Given the description of an element on the screen output the (x, y) to click on. 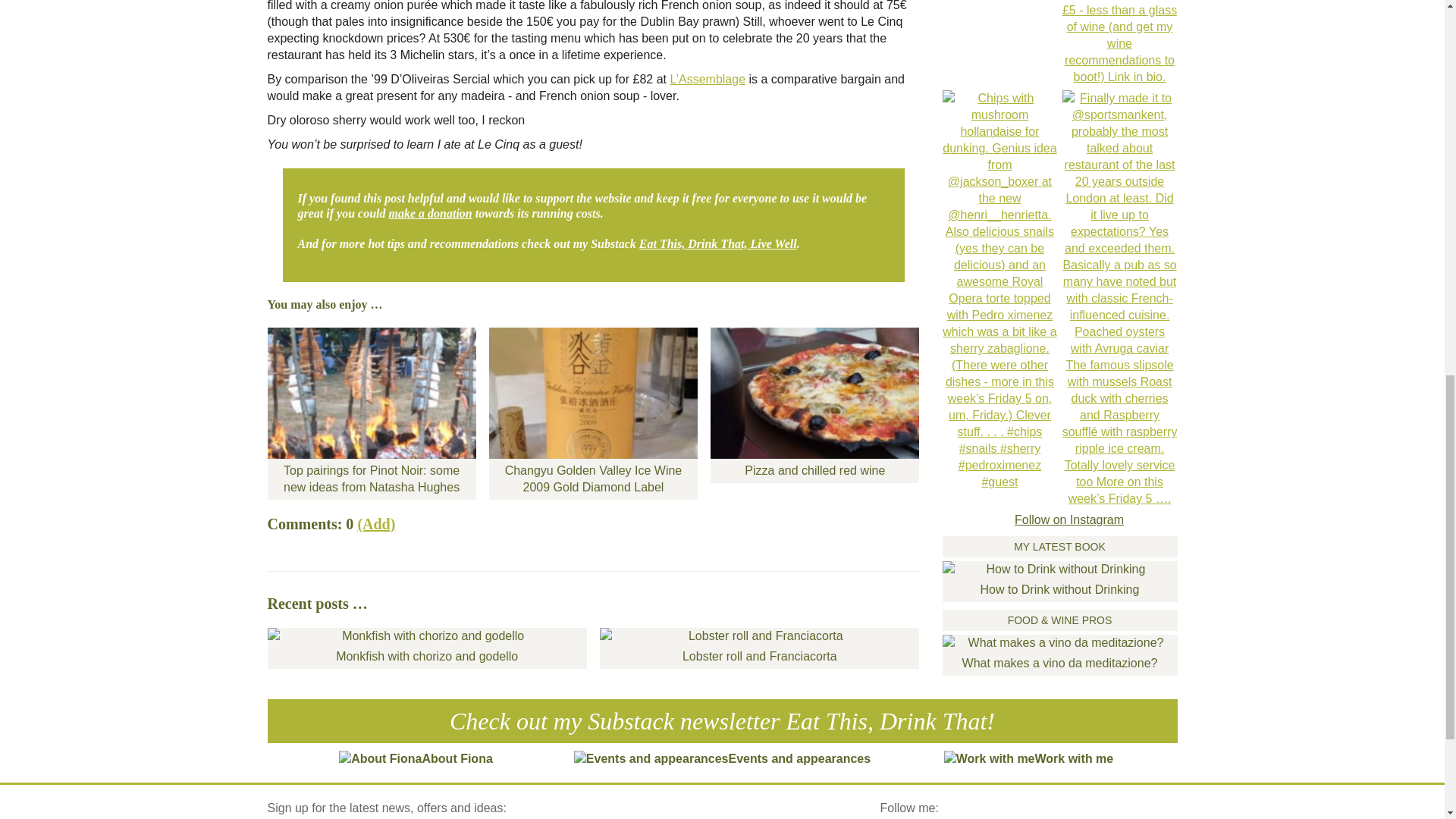
Eat This, Drink That, Live Well (717, 243)
make a donation (429, 213)
Pizza and chilled red wine (814, 405)
Changyu Golden Valley Ice Wine 2009 Gold Diamond Label (593, 413)
